Given the description of an element on the screen output the (x, y) to click on. 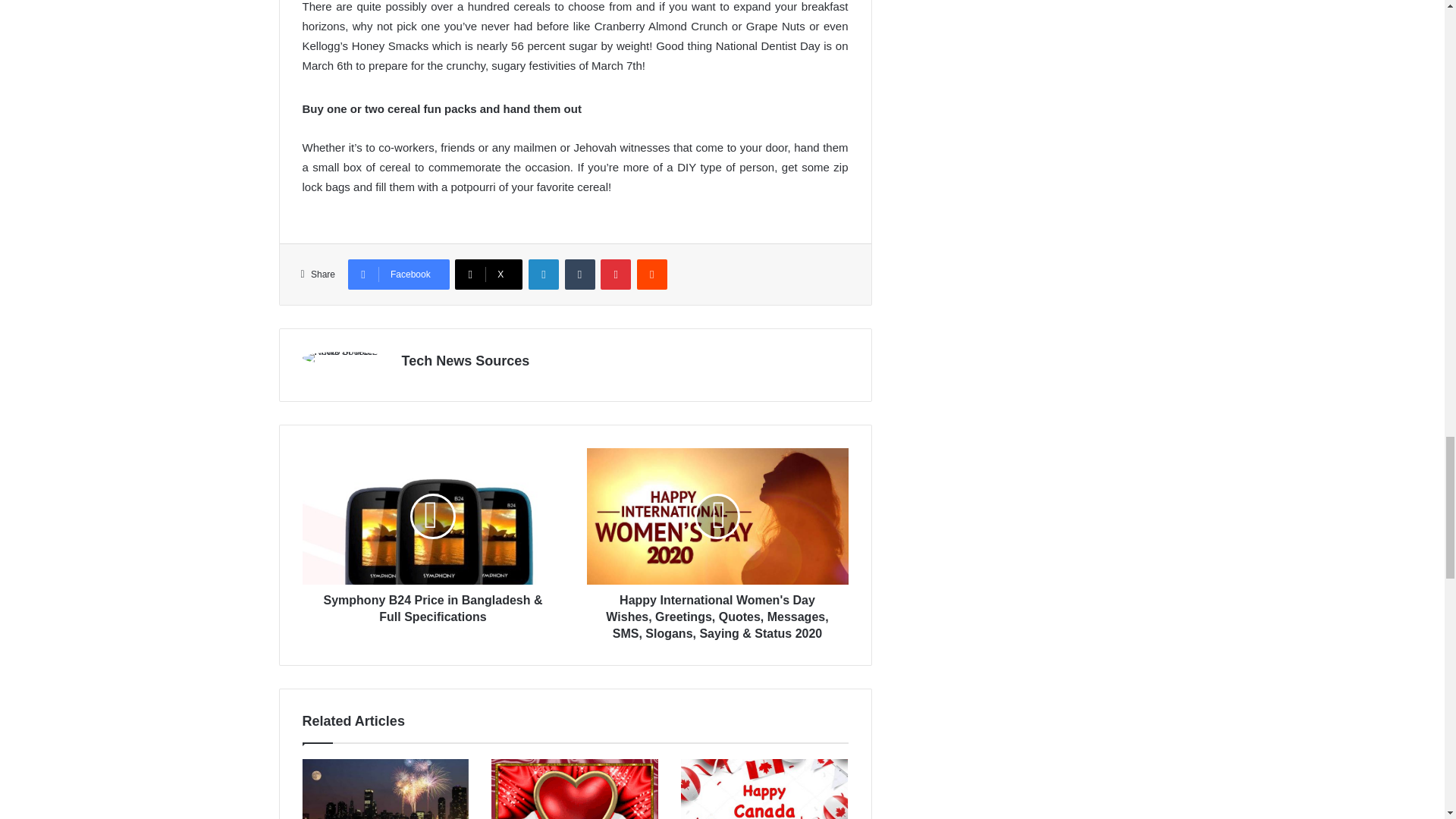
LinkedIn (543, 274)
Facebook (398, 274)
X (488, 274)
